Given the description of an element on the screen output the (x, y) to click on. 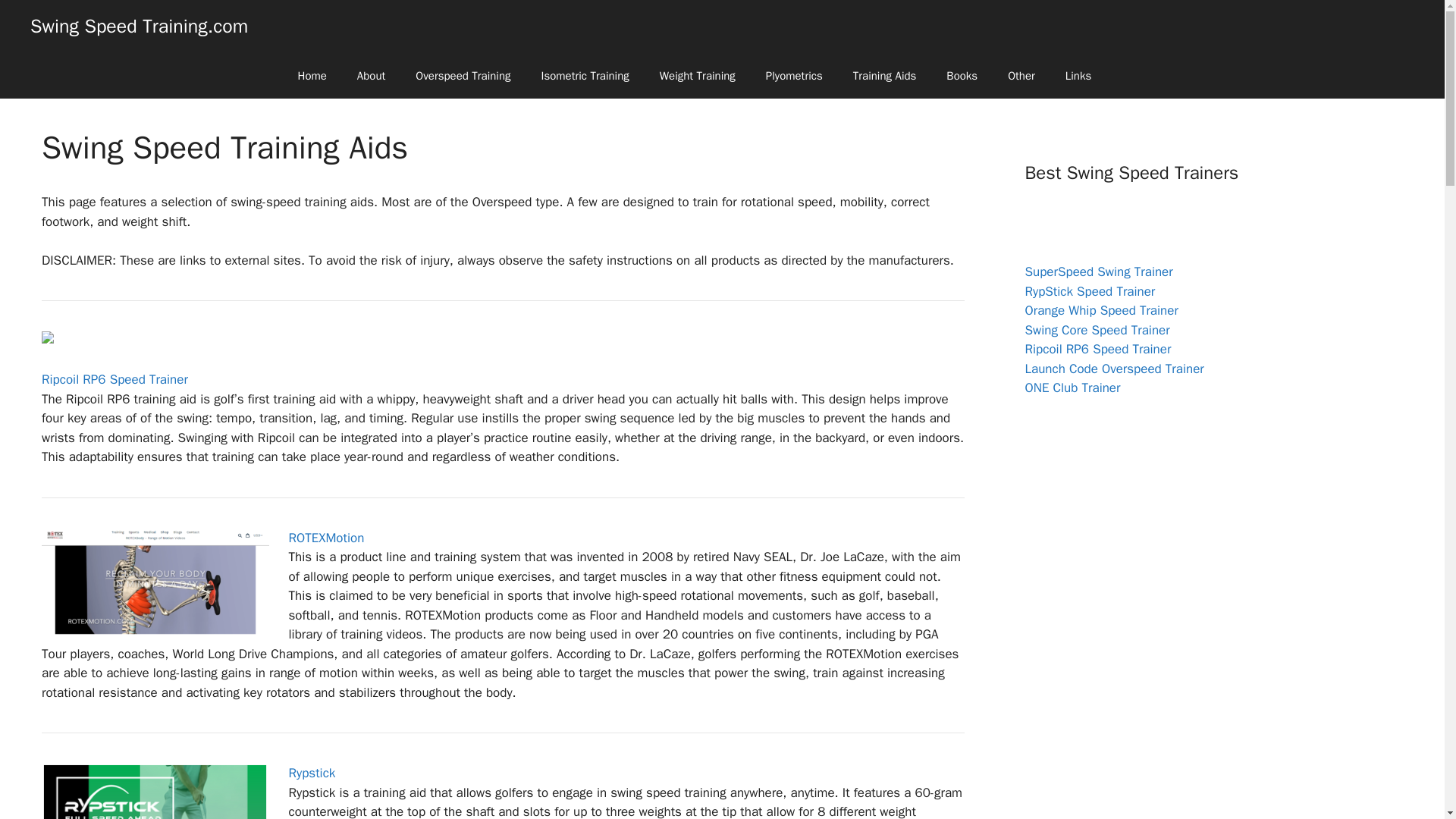
About (371, 75)
Overspeed Training (462, 75)
Plyometrics (794, 75)
Training Aids (884, 75)
Books (961, 75)
Swing Speed Training.com (138, 25)
Isometric Training (585, 75)
Links (1077, 75)
Other (1020, 75)
Ripcoil RP6 Speed Trainer (114, 379)
Weight Training (698, 75)
Rypstick (311, 772)
ROTEXMotion (326, 537)
Home (311, 75)
